Given the description of an element on the screen output the (x, y) to click on. 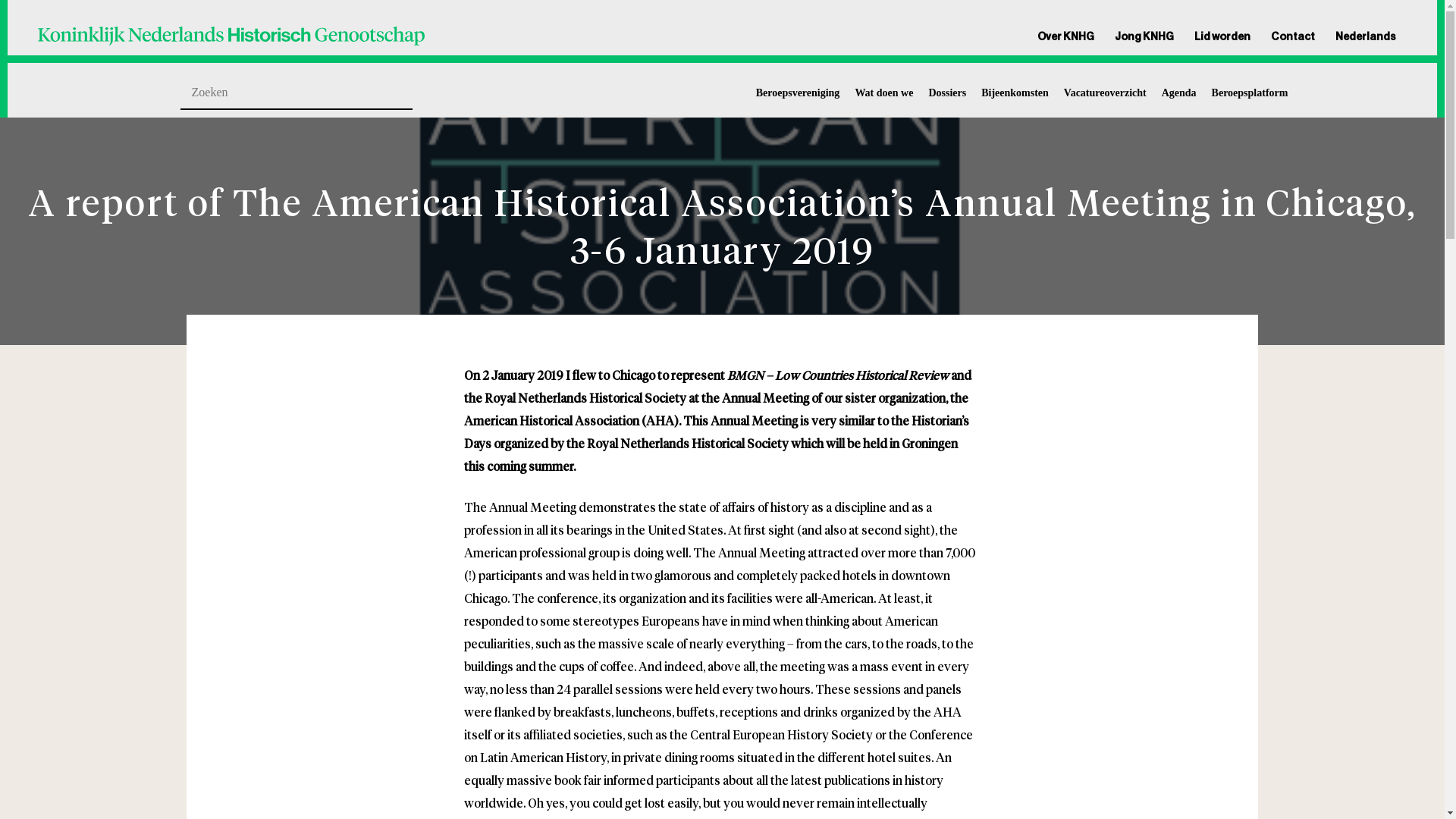
Beroepsvereniging (797, 92)
Over KNHG (1069, 35)
Jong KNHG (1143, 35)
Dossiers (947, 92)
Contact (1292, 35)
Nederlands (1361, 35)
Wat doen we (883, 92)
Nederlands (1361, 35)
Lid worden (1222, 35)
